Given the description of an element on the screen output the (x, y) to click on. 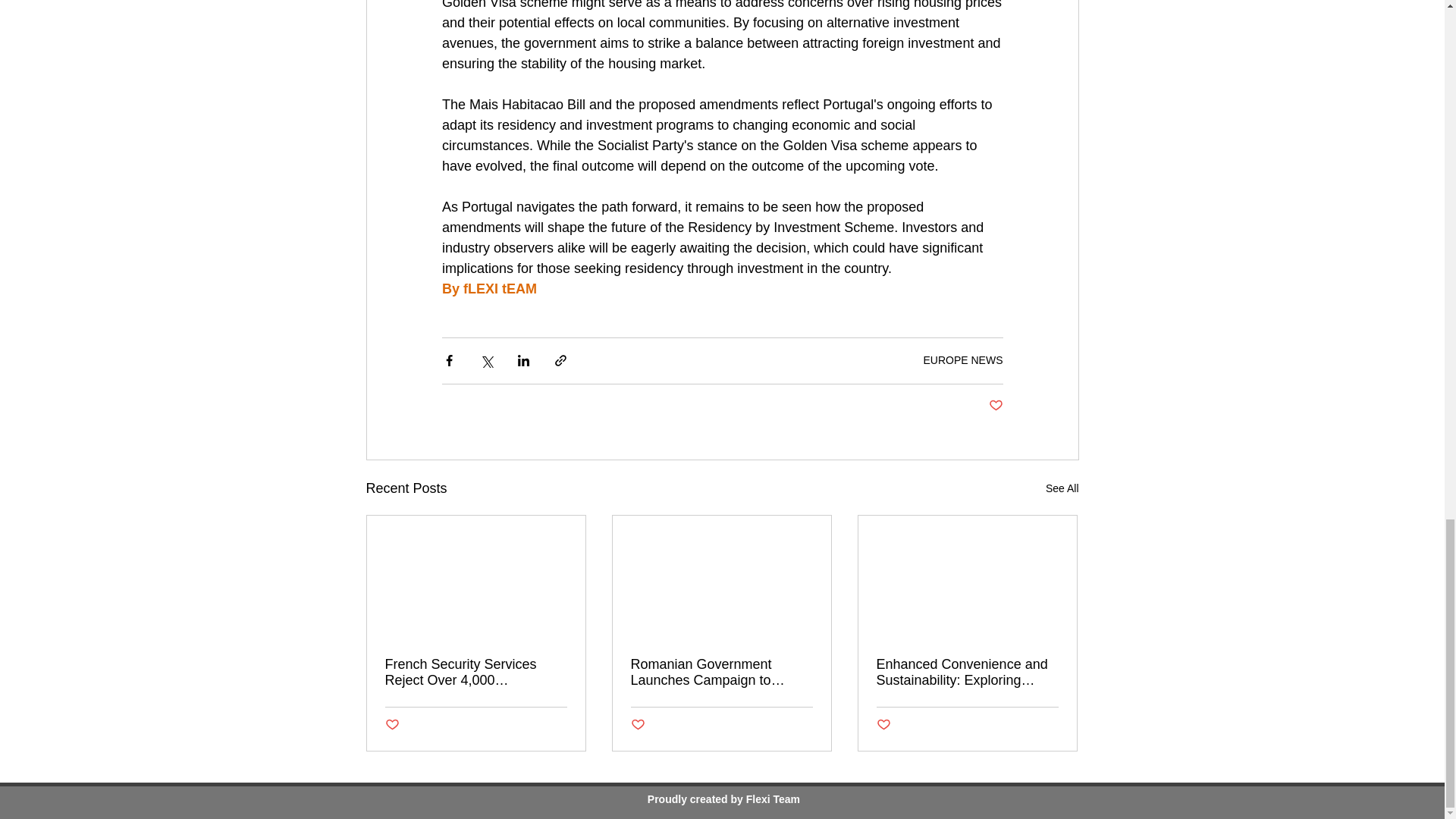
Post not marked as liked (391, 725)
See All (1061, 488)
Post not marked as liked (883, 725)
Post not marked as liked (637, 725)
EUROPE NEWS (963, 359)
Post not marked as liked (995, 406)
